Given the description of an element on the screen output the (x, y) to click on. 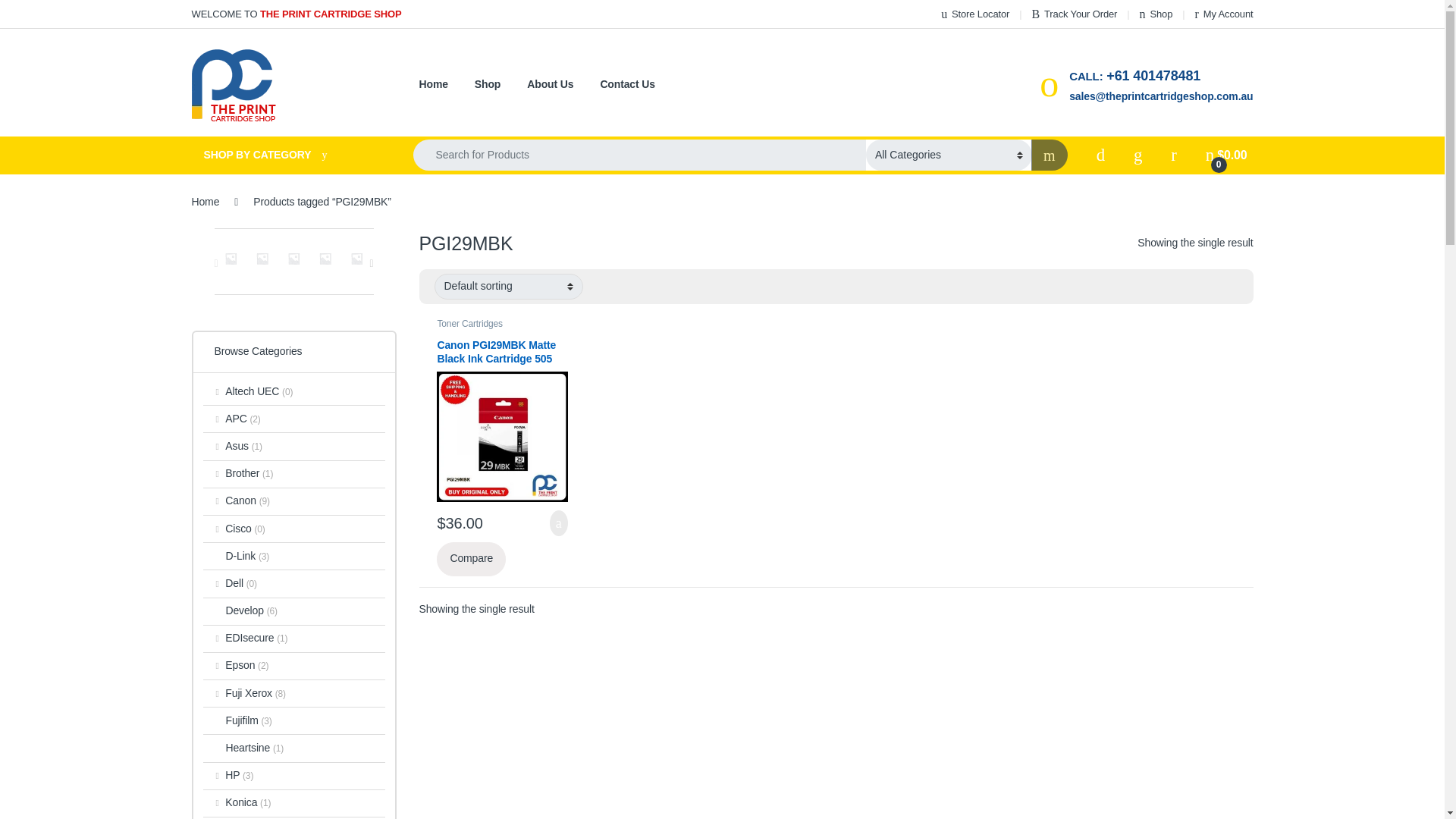
Track Your Order (1073, 13)
Shop (1156, 13)
Shop (1156, 13)
My Account (1224, 13)
WELCOME TO THE PRINT CARTRIDGE SHOP (295, 13)
Store Locator (974, 13)
My Account (1224, 13)
Track Your Order (1073, 13)
Store Locator (974, 13)
